Given the description of an element on the screen output the (x, y) to click on. 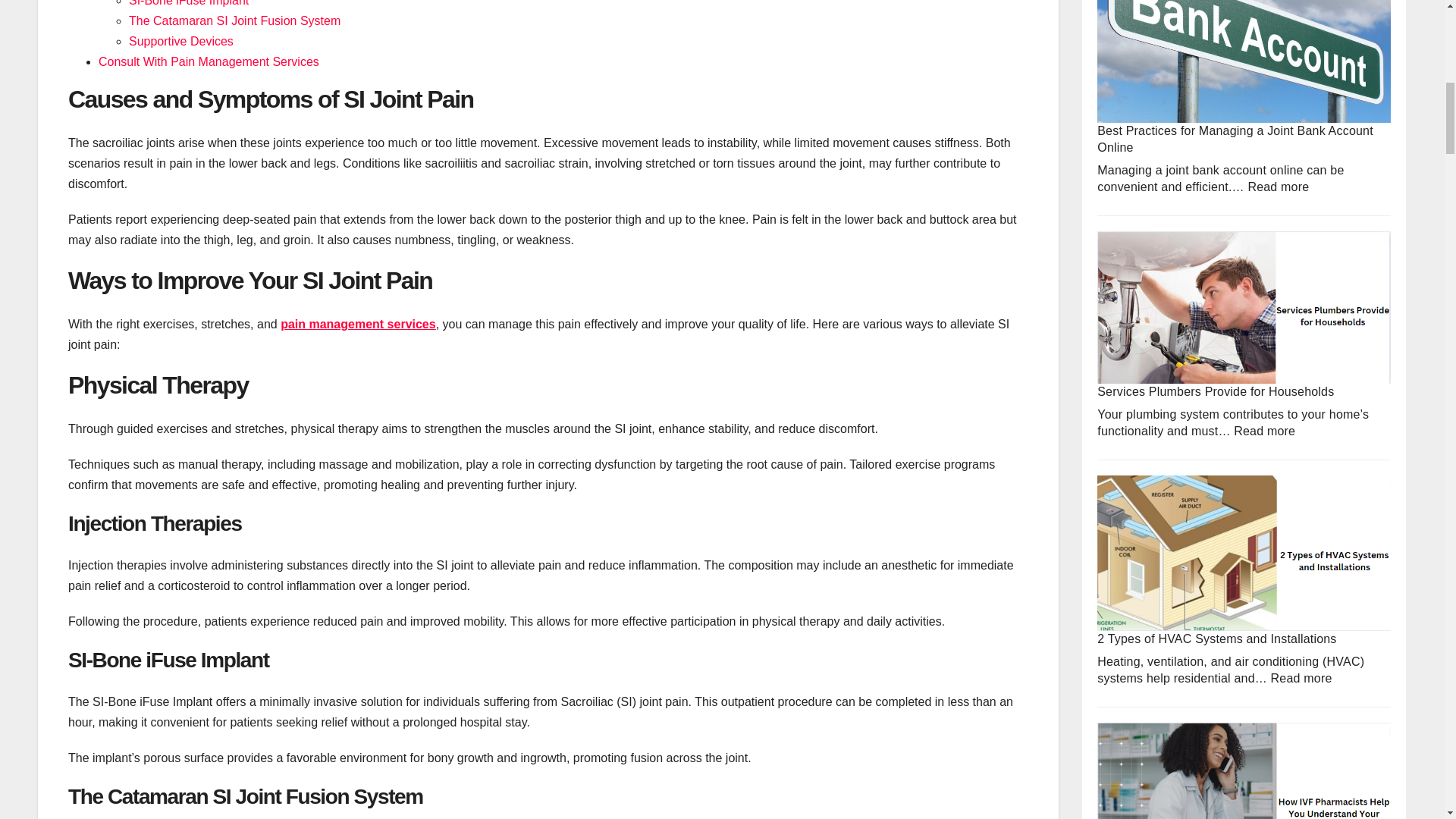
Consult With Pain Management Services (208, 61)
pain management services (358, 323)
The Catamaran SI Joint Fusion System (234, 20)
Supportive Devices (180, 41)
SI-Bone iFuse Implant (188, 3)
